Given the description of an element on the screen output the (x, y) to click on. 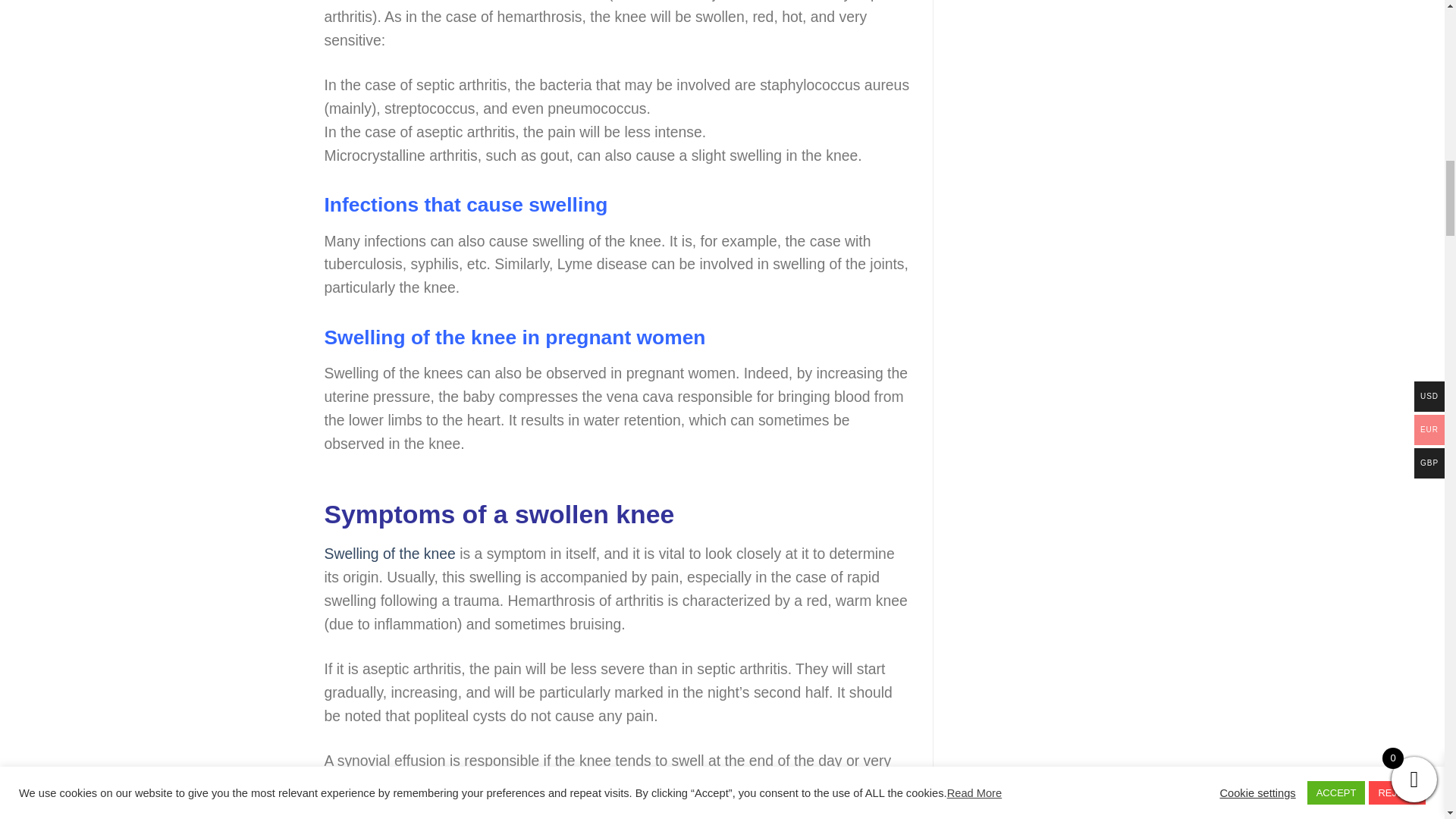
Swelling of the knee (389, 553)
